Given the description of an element on the screen output the (x, y) to click on. 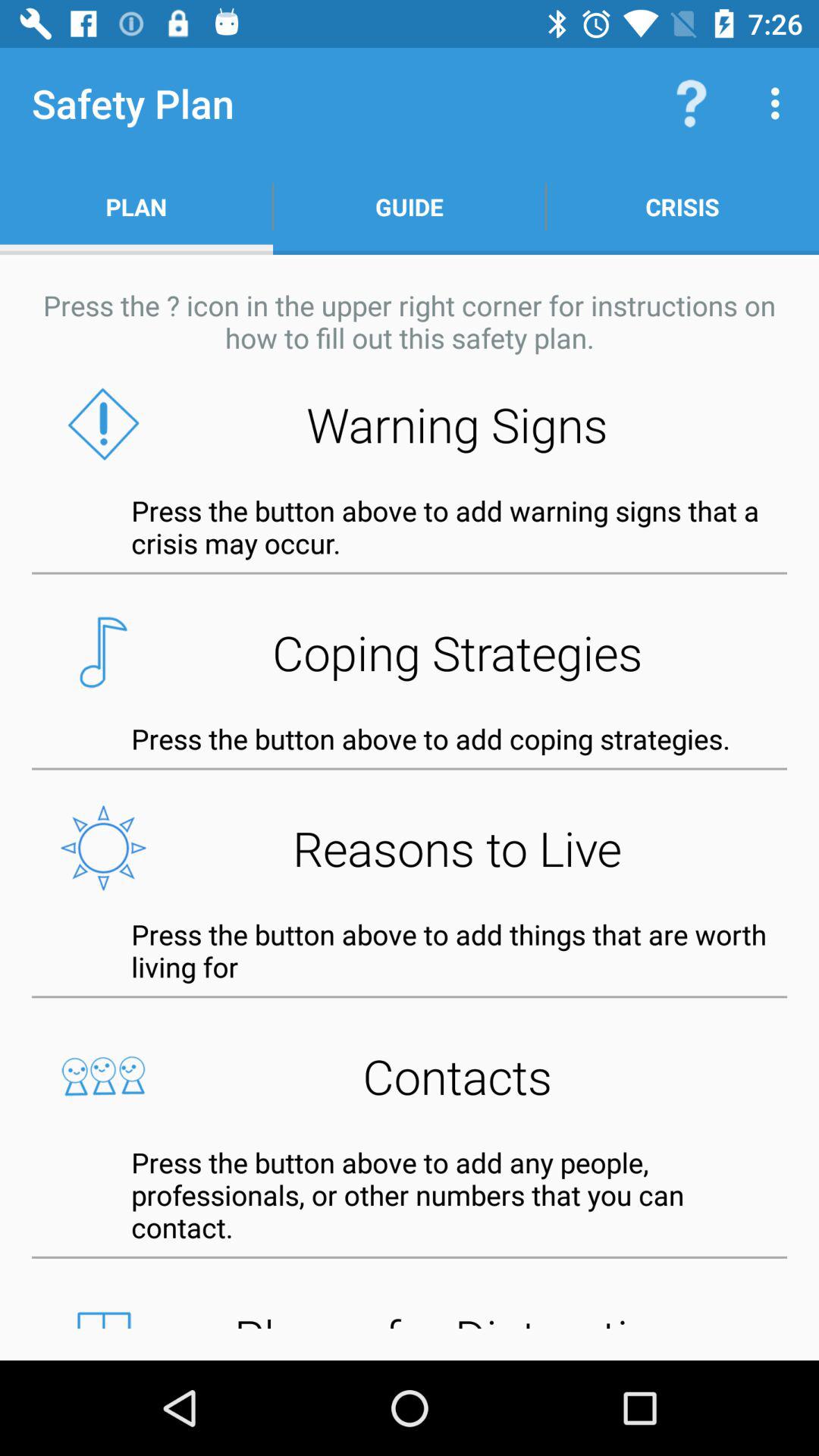
launch the item next to the crisis app (409, 206)
